Given the description of an element on the screen output the (x, y) to click on. 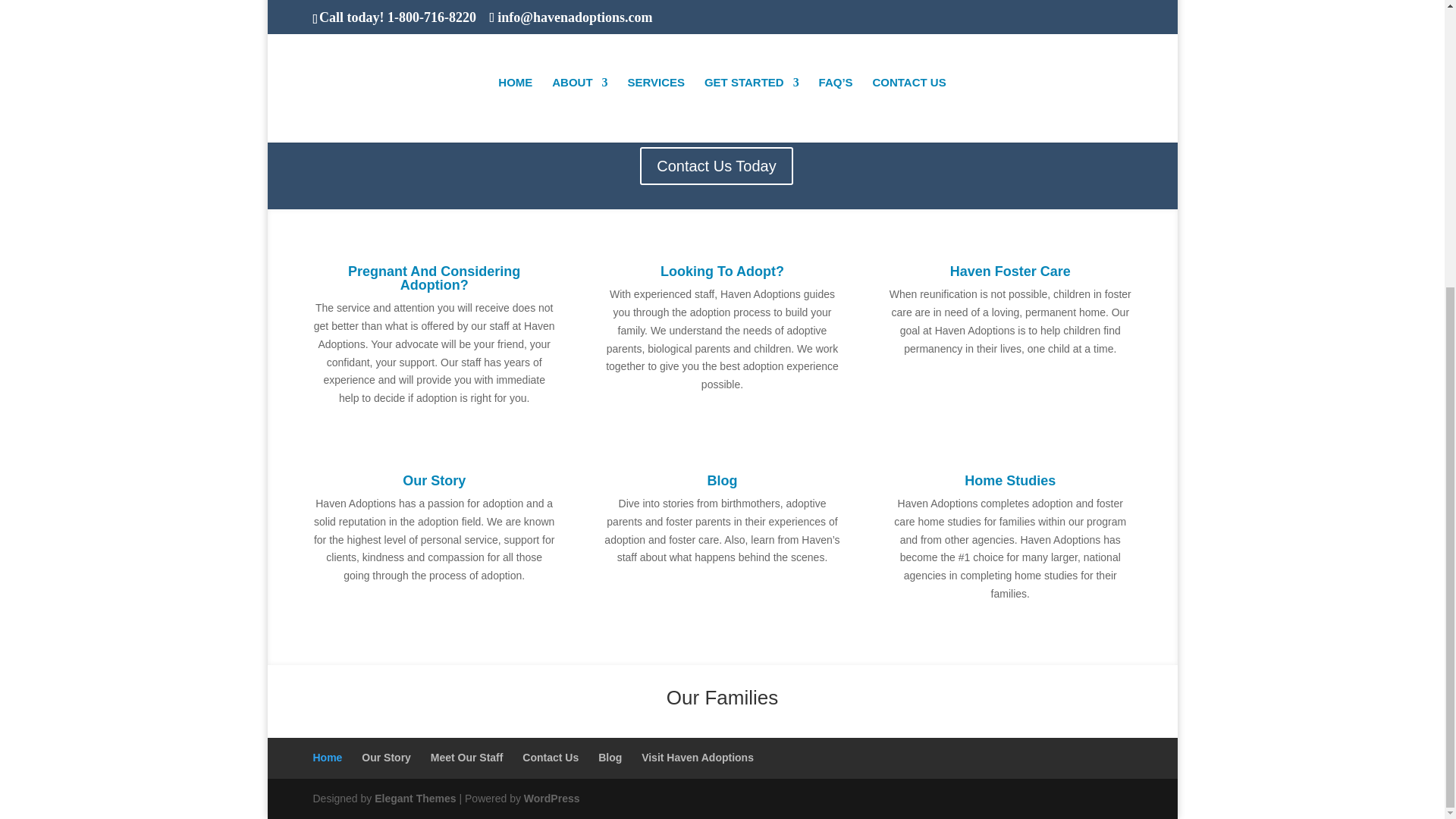
Blog (721, 480)
Pregnant And Considering Adoption? (433, 277)
Haven Foster Care (1010, 271)
Home Studies (1009, 480)
Contact Us Today (716, 166)
Looking To Adopt? (722, 271)
Premium WordPress Themes (414, 798)
Our Story (434, 480)
